Given the description of an element on the screen output the (x, y) to click on. 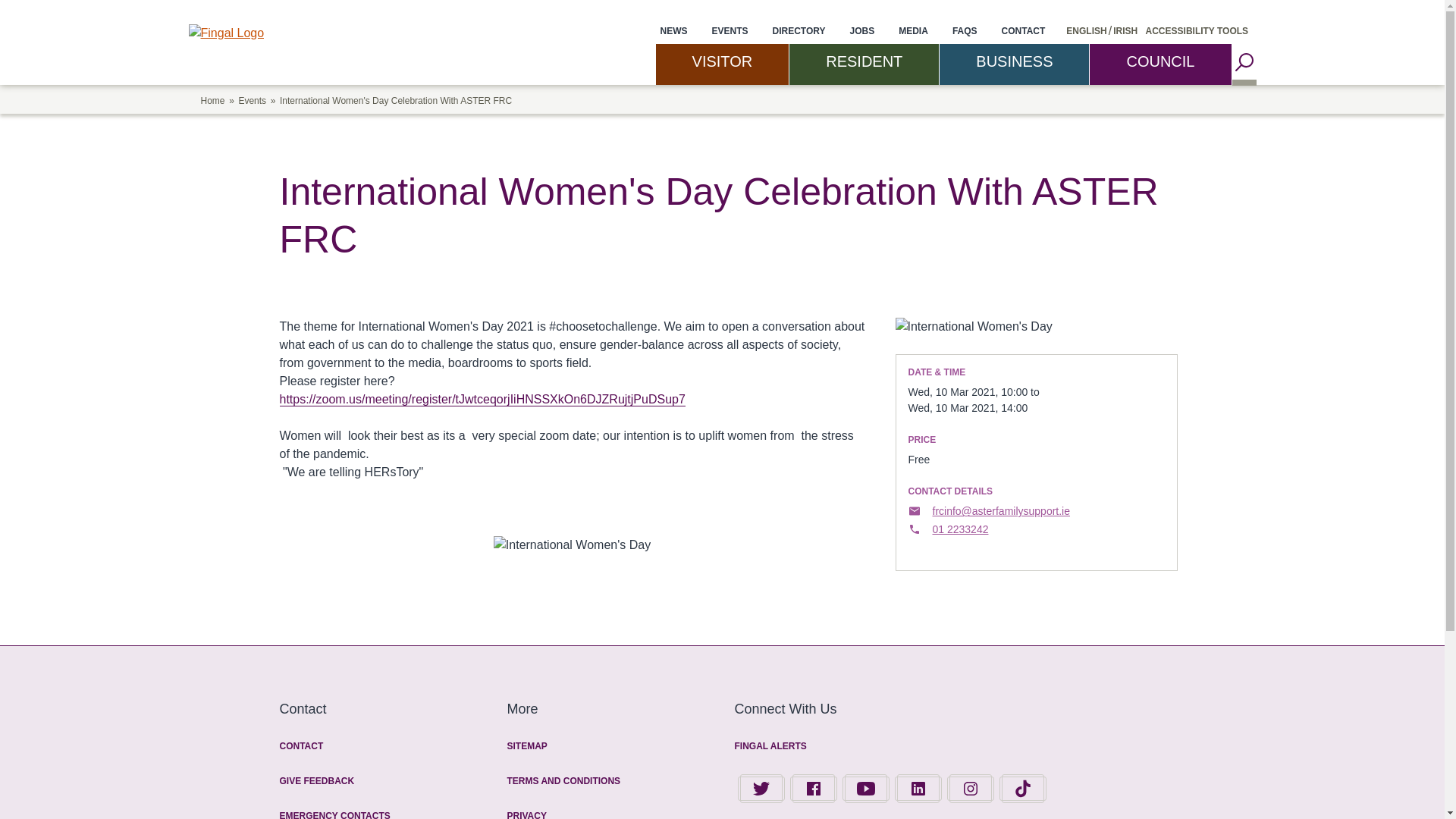
Home (225, 32)
